Given the description of an element on the screen output the (x, y) to click on. 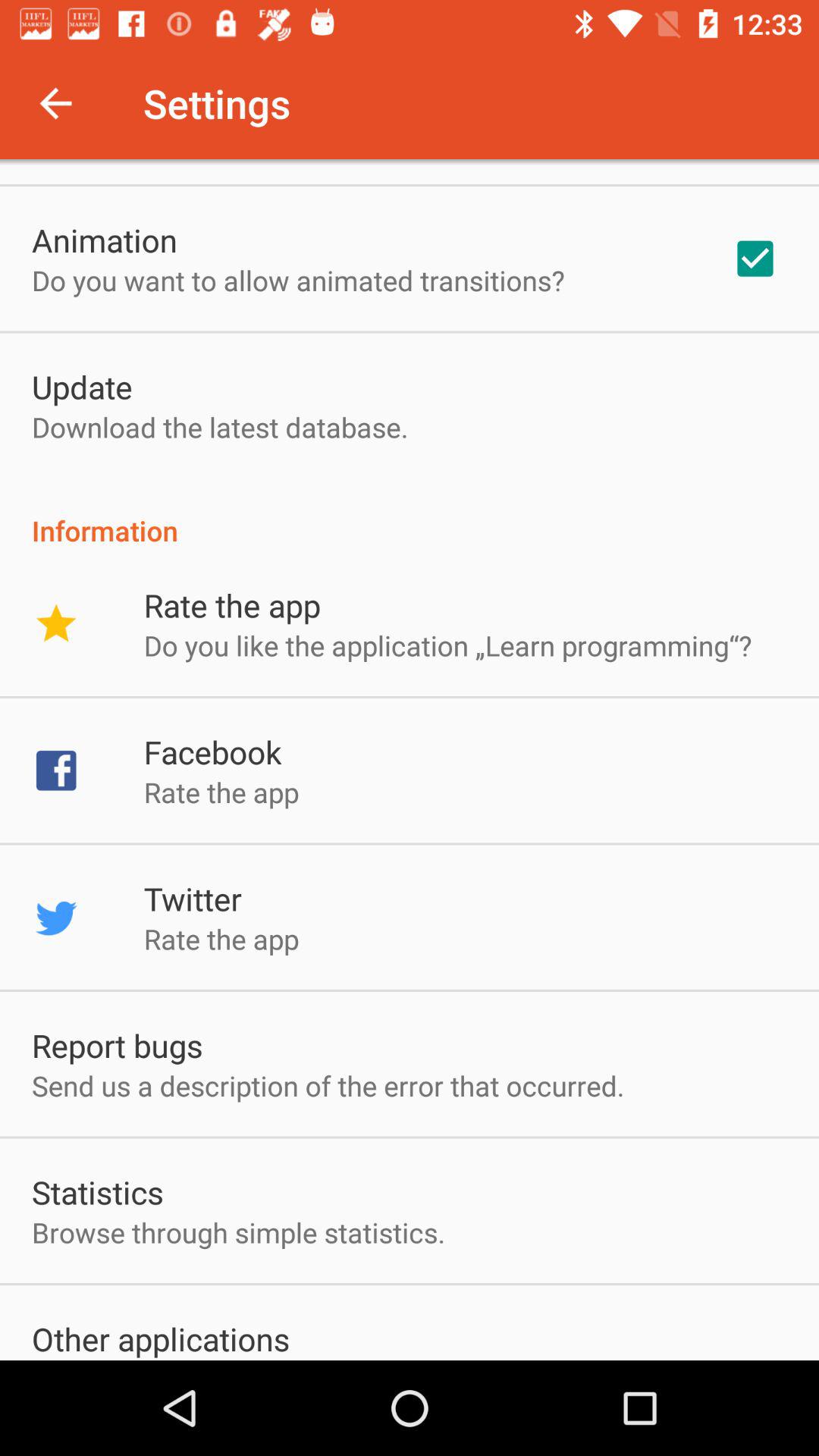
choose the item below download the latest app (409, 514)
